Given the description of an element on the screen output the (x, y) to click on. 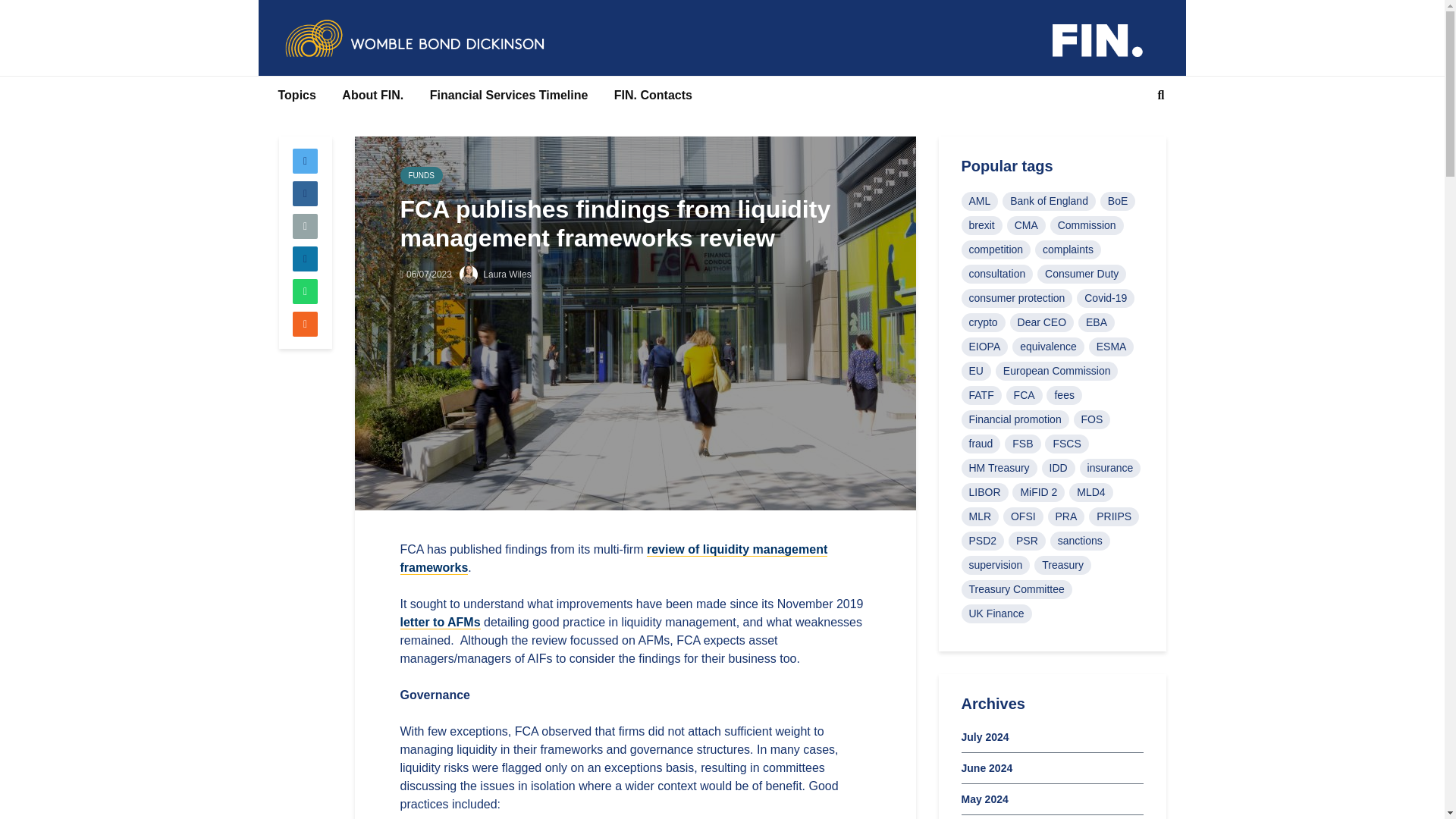
Topics (296, 95)
FUNDS (421, 175)
Financial Services Timeline (509, 95)
Laura Wiles (495, 274)
About FIN. (372, 95)
FIN. Contacts (652, 95)
